Given the description of an element on the screen output the (x, y) to click on. 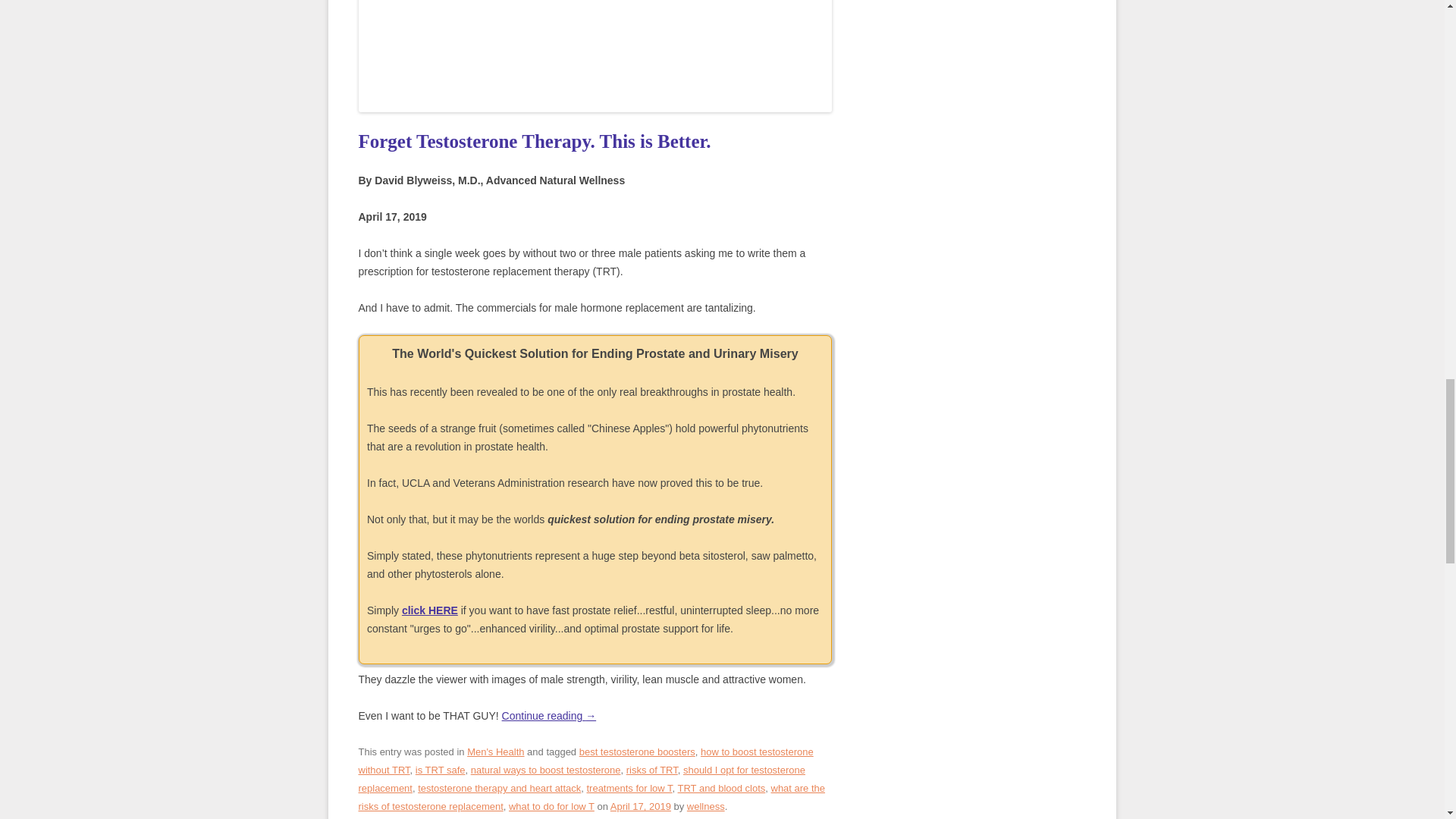
5:00 am (640, 806)
how to boost testosterone without TRT (585, 760)
Forget Testosterone Therapy. This is Better. (534, 141)
April 17, 2019 (640, 806)
testosterone therapy and heart attack (498, 787)
best testosterone boosters (637, 751)
Men's Health (495, 751)
treatments for low T (629, 787)
TRT and blood clots (721, 787)
is TRT safe (439, 769)
should I opt for testosterone replacement (581, 778)
natural ways to boost testosterone (545, 769)
what to do for low T (551, 806)
what are the risks of testosterone replacement (591, 797)
click HERE (429, 610)
